Given the description of an element on the screen output the (x, y) to click on. 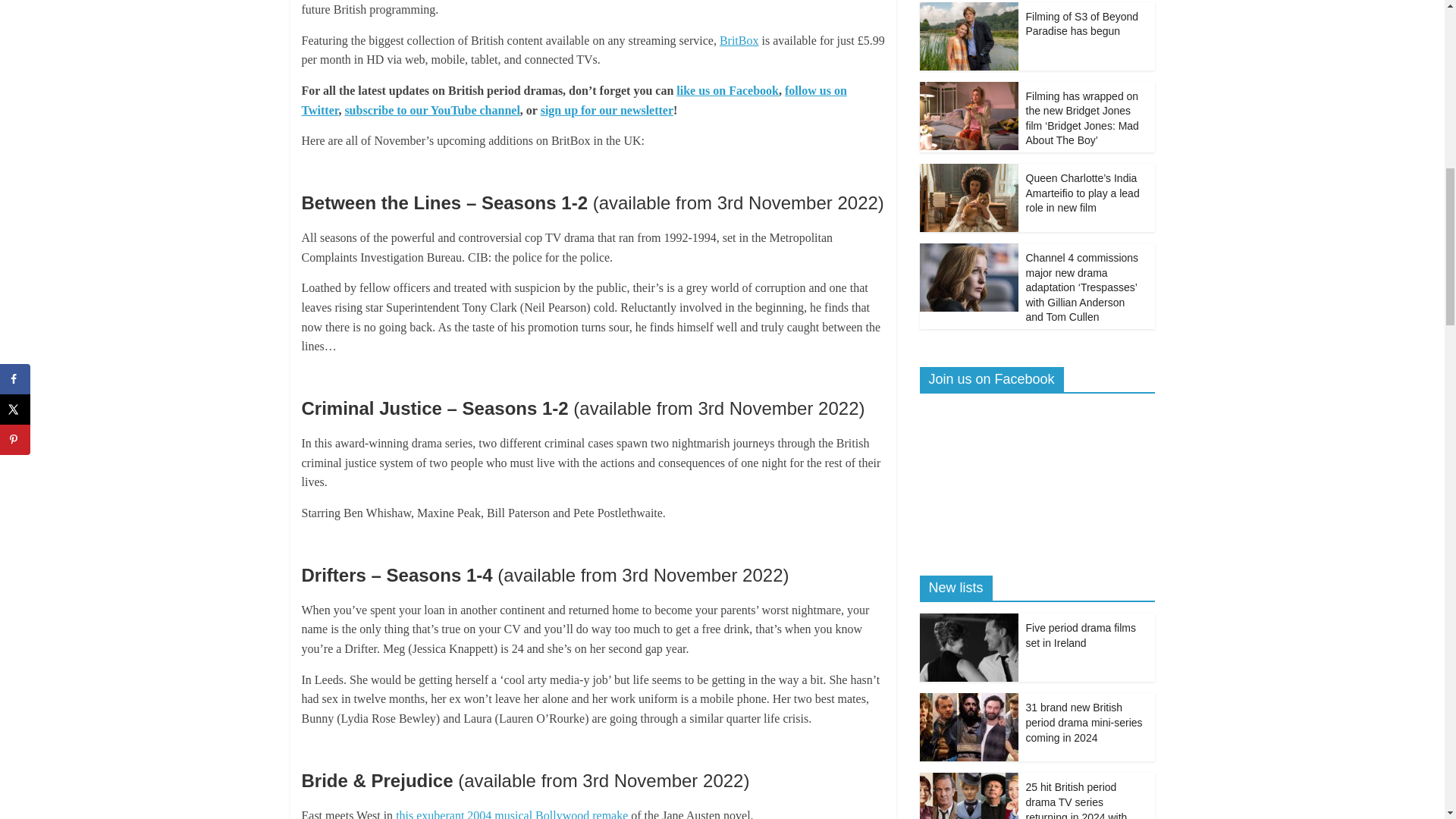
sign up for our newsletter (606, 110)
BritBox (738, 40)
this exuberant 2004 musical Bollywood remake (511, 814)
subscribe to our YouTube channel (431, 110)
follow us on Twitter (574, 100)
like us on Facebook (727, 90)
